Given the description of an element on the screen output the (x, y) to click on. 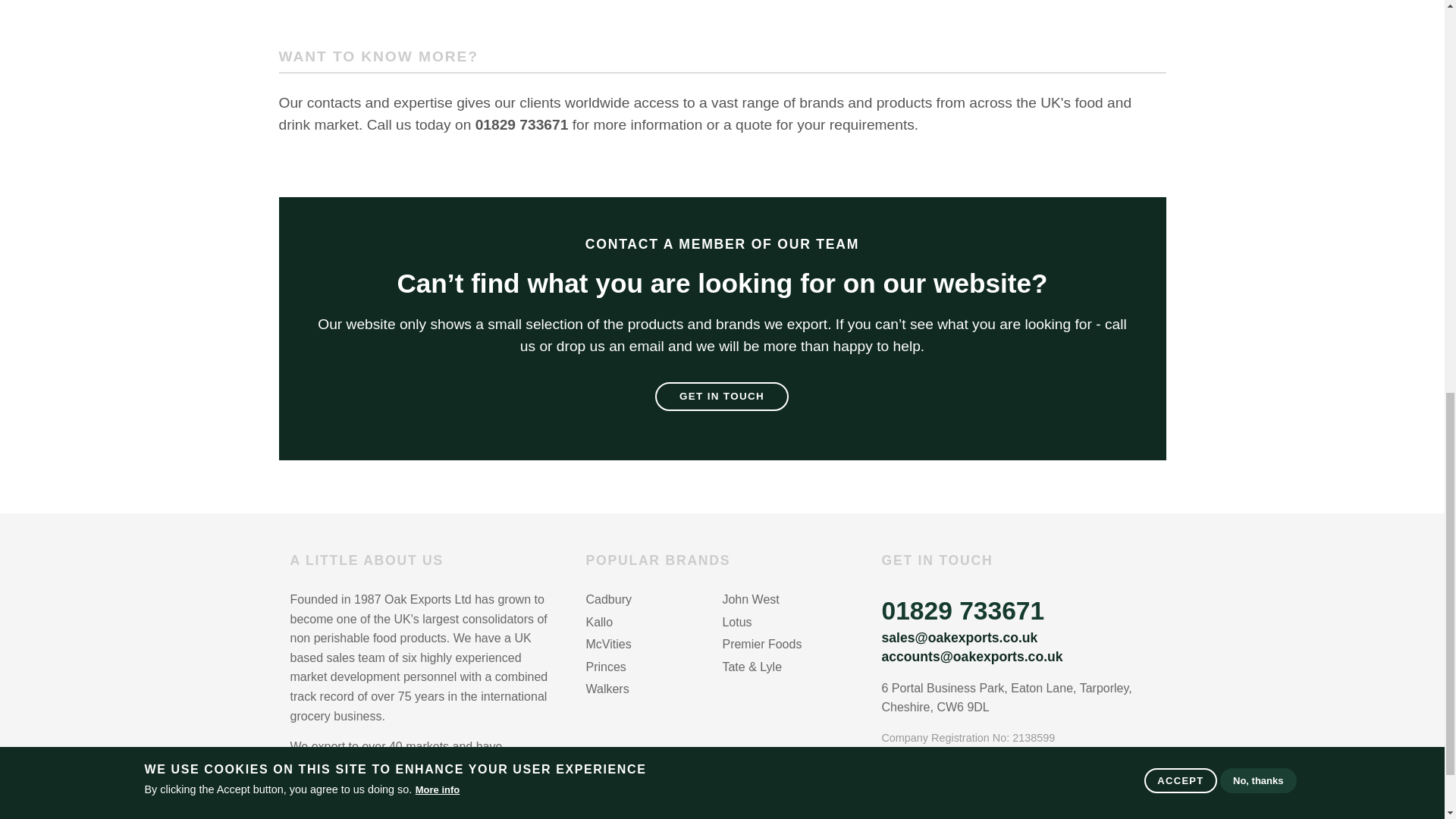
Premier Foods (790, 645)
Walkers (653, 690)
McVities (653, 645)
Cadbury (653, 600)
GET IN TOUCH (722, 396)
Princes (653, 668)
Lotus (790, 623)
John West (790, 600)
Kallo (653, 623)
